Given the description of an element on the screen output the (x, y) to click on. 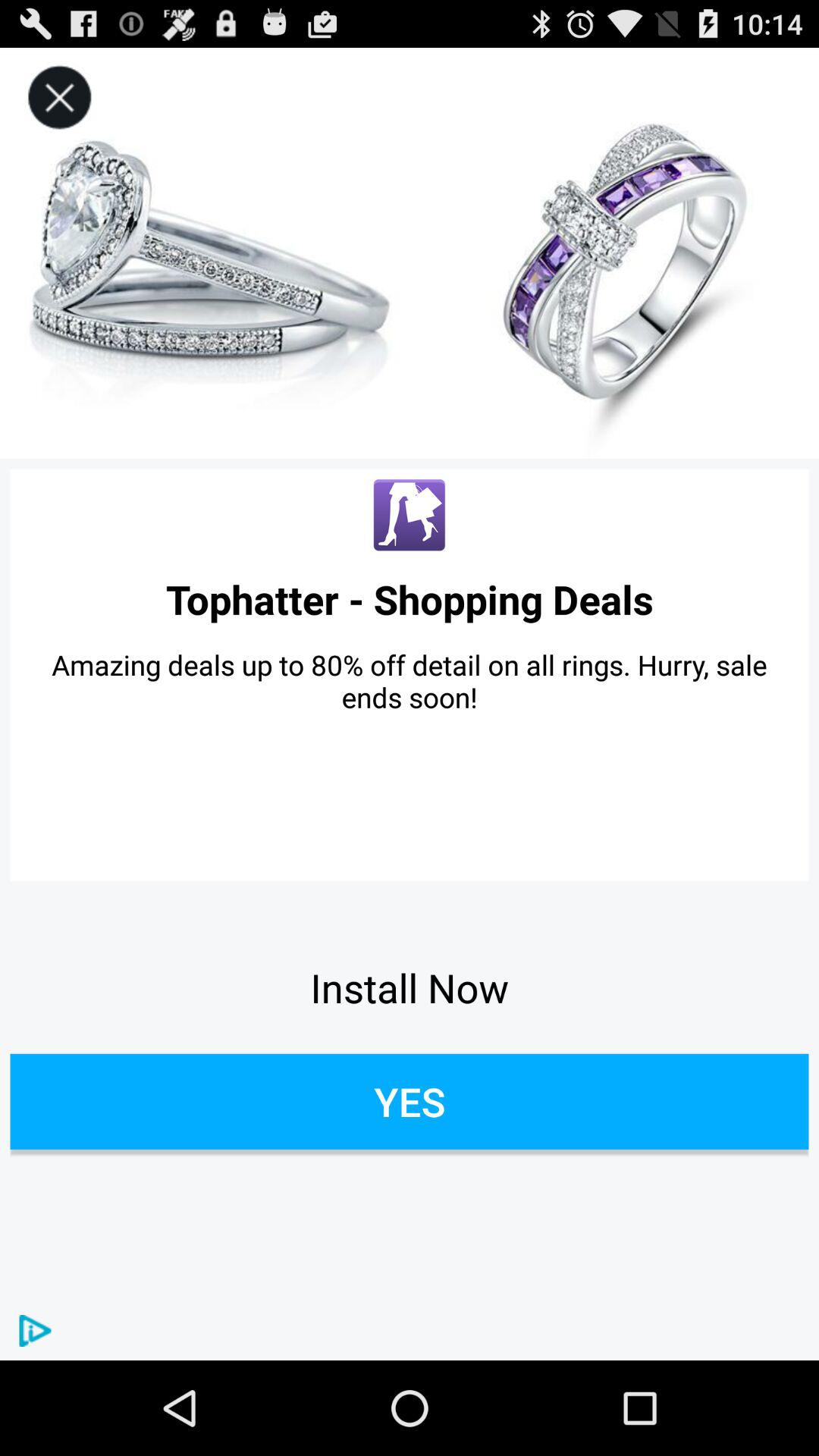
turn off the yes icon (409, 1101)
